Given the description of an element on the screen output the (x, y) to click on. 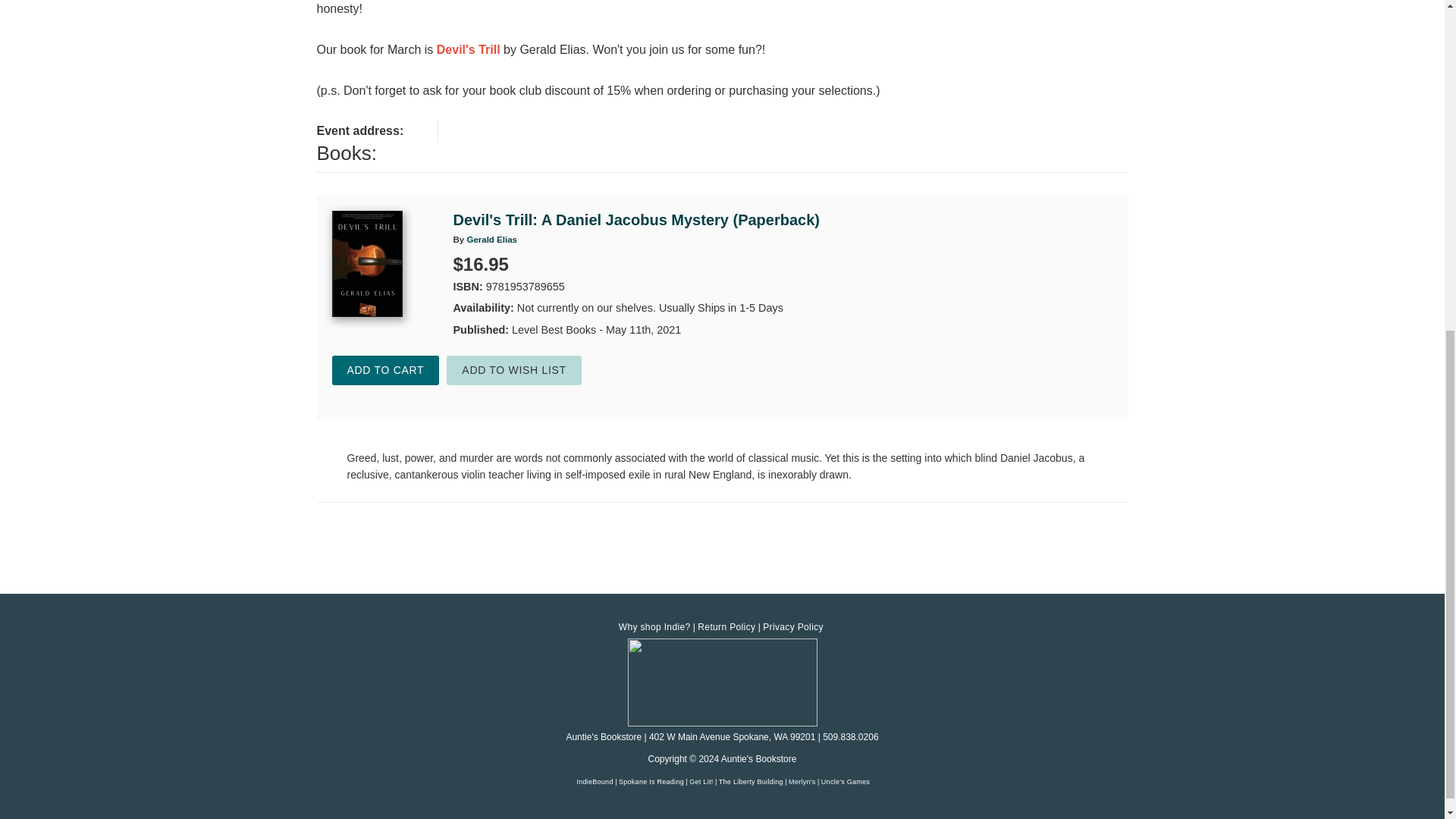
Gerald Elias (490, 239)
Add to Cart (385, 369)
Add to Cart (385, 369)
